Given the description of an element on the screen output the (x, y) to click on. 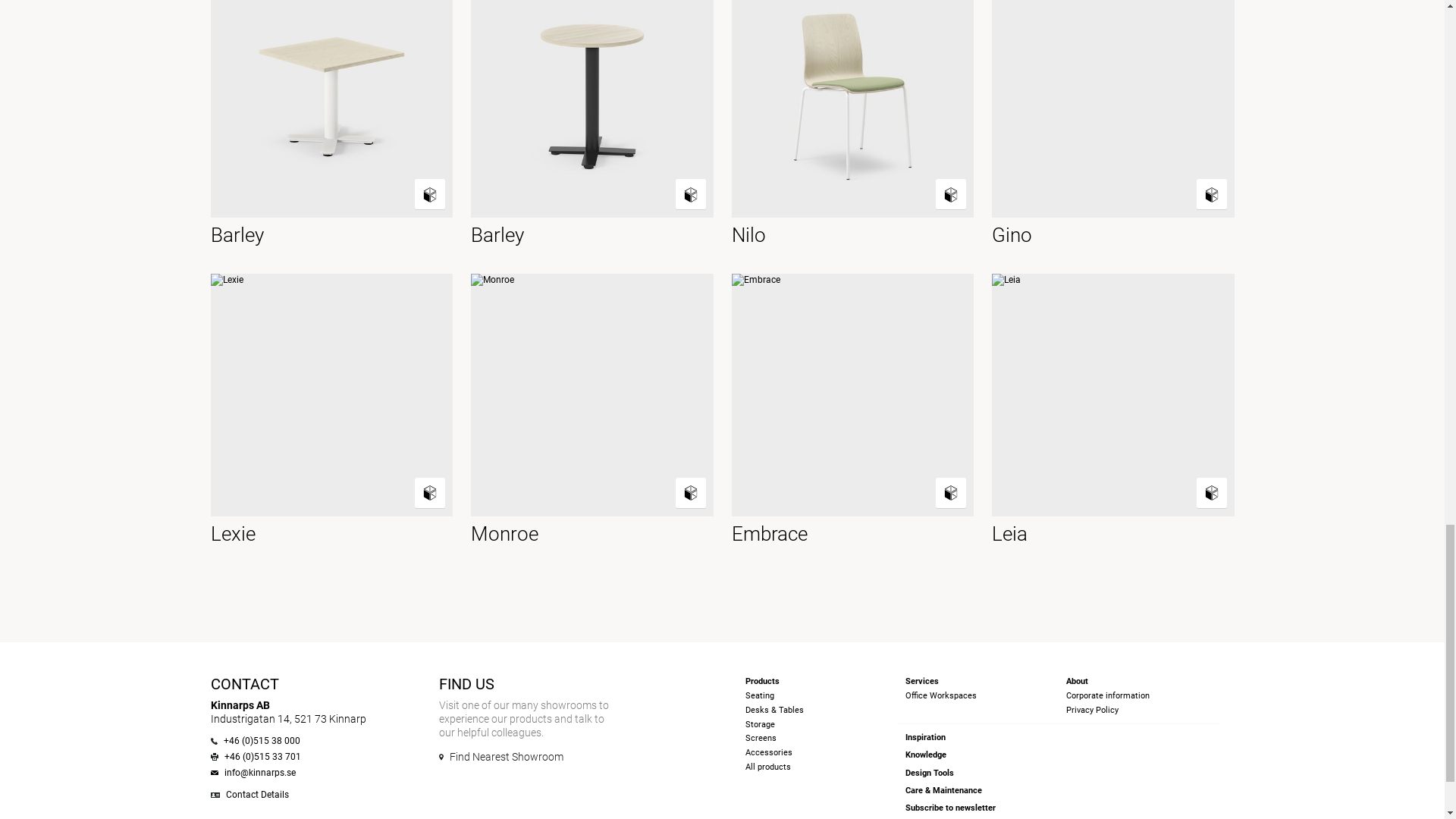
Subscribe to Kinnarps newsletter (950, 808)
